Given the description of an element on the screen output the (x, y) to click on. 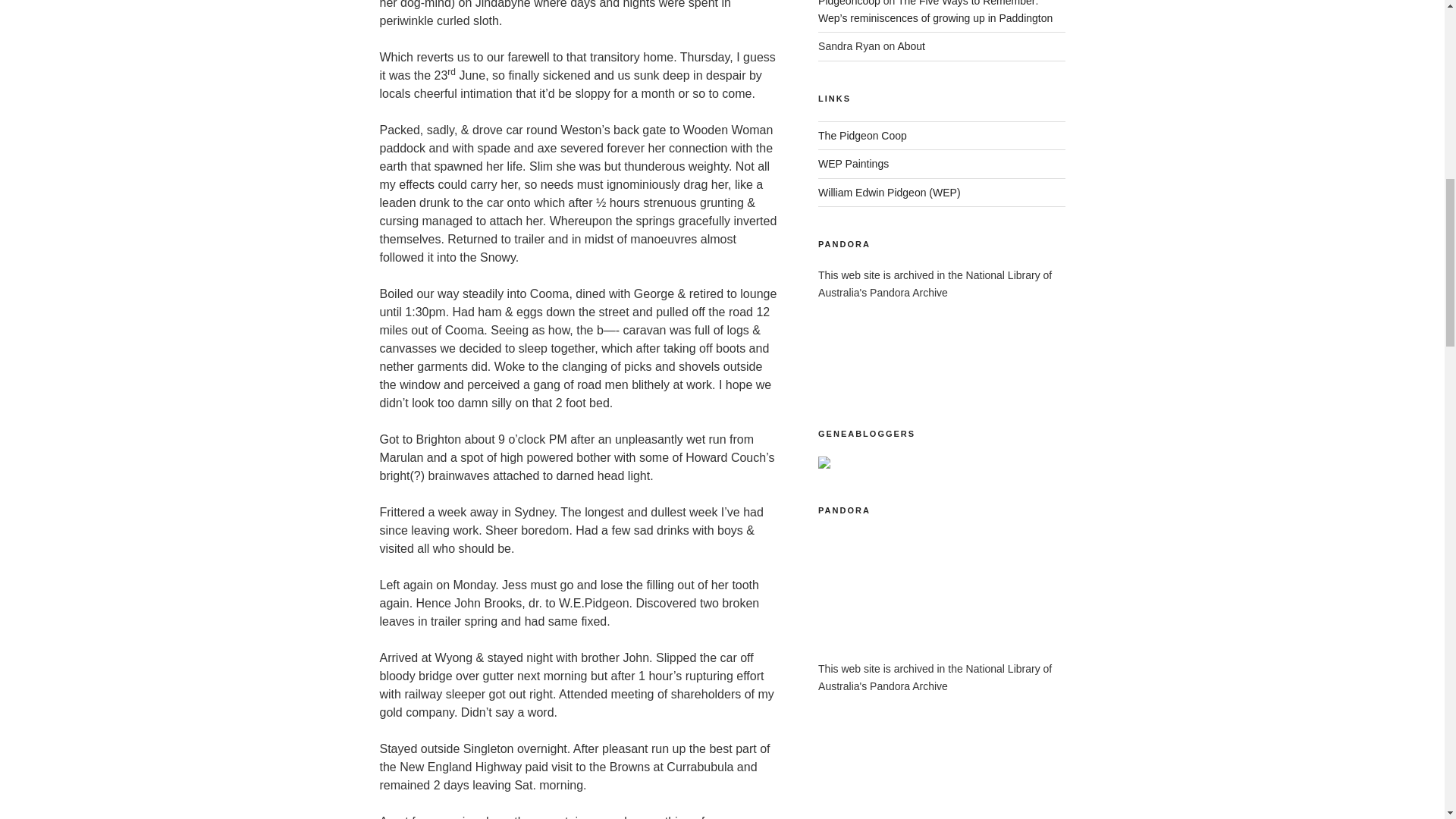
WEP Paintings (853, 163)
A focus on family history (862, 135)
Pidgeoncoop (849, 3)
About (910, 46)
The Pidgeon Coop (862, 135)
20th Century Australian Artist (889, 192)
